Given the description of an element on the screen output the (x, y) to click on. 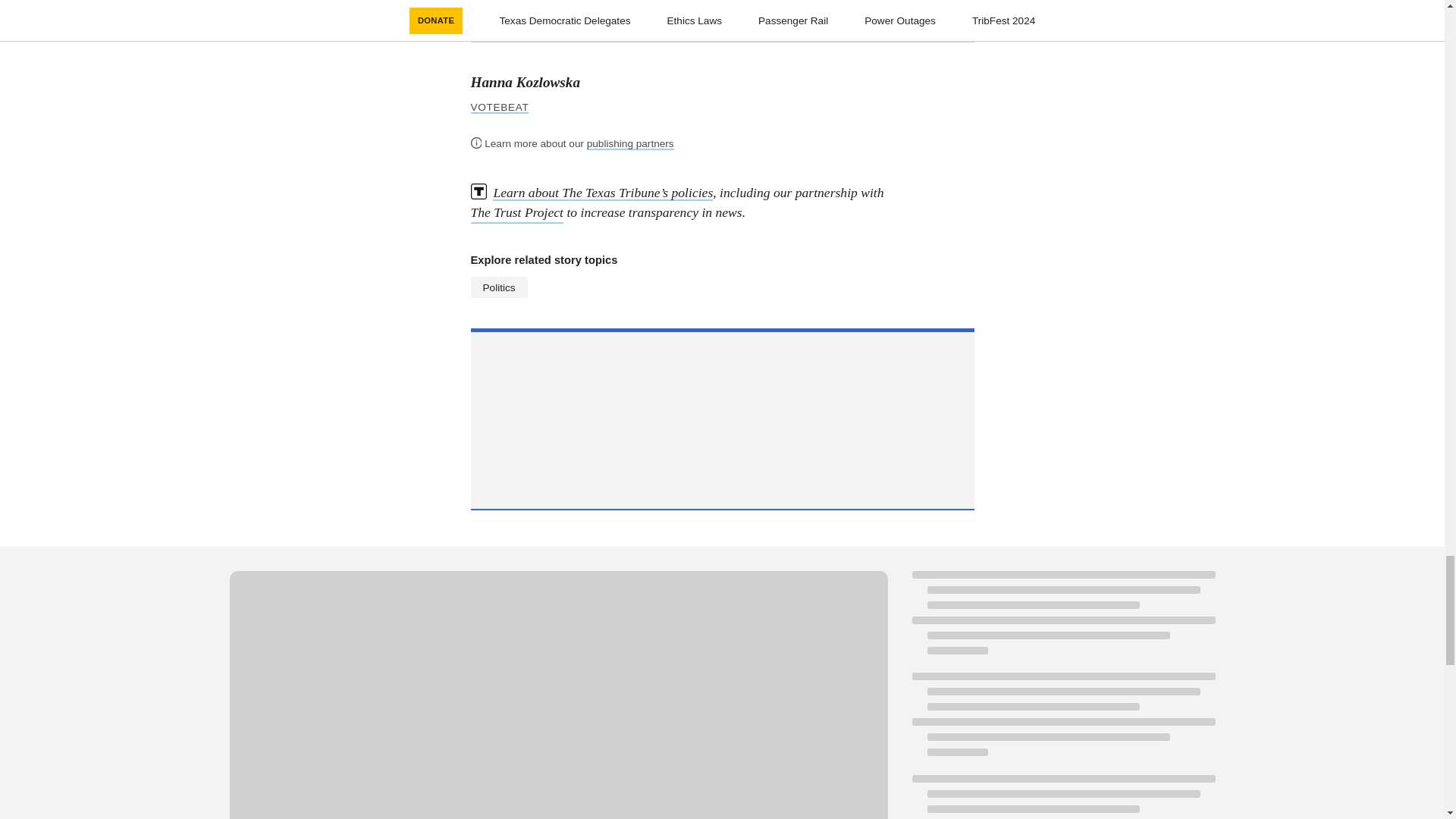
Loading indicator (1062, 796)
Loading indicator (1062, 721)
Loading indicator (1062, 619)
